Given the description of an element on the screen output the (x, y) to click on. 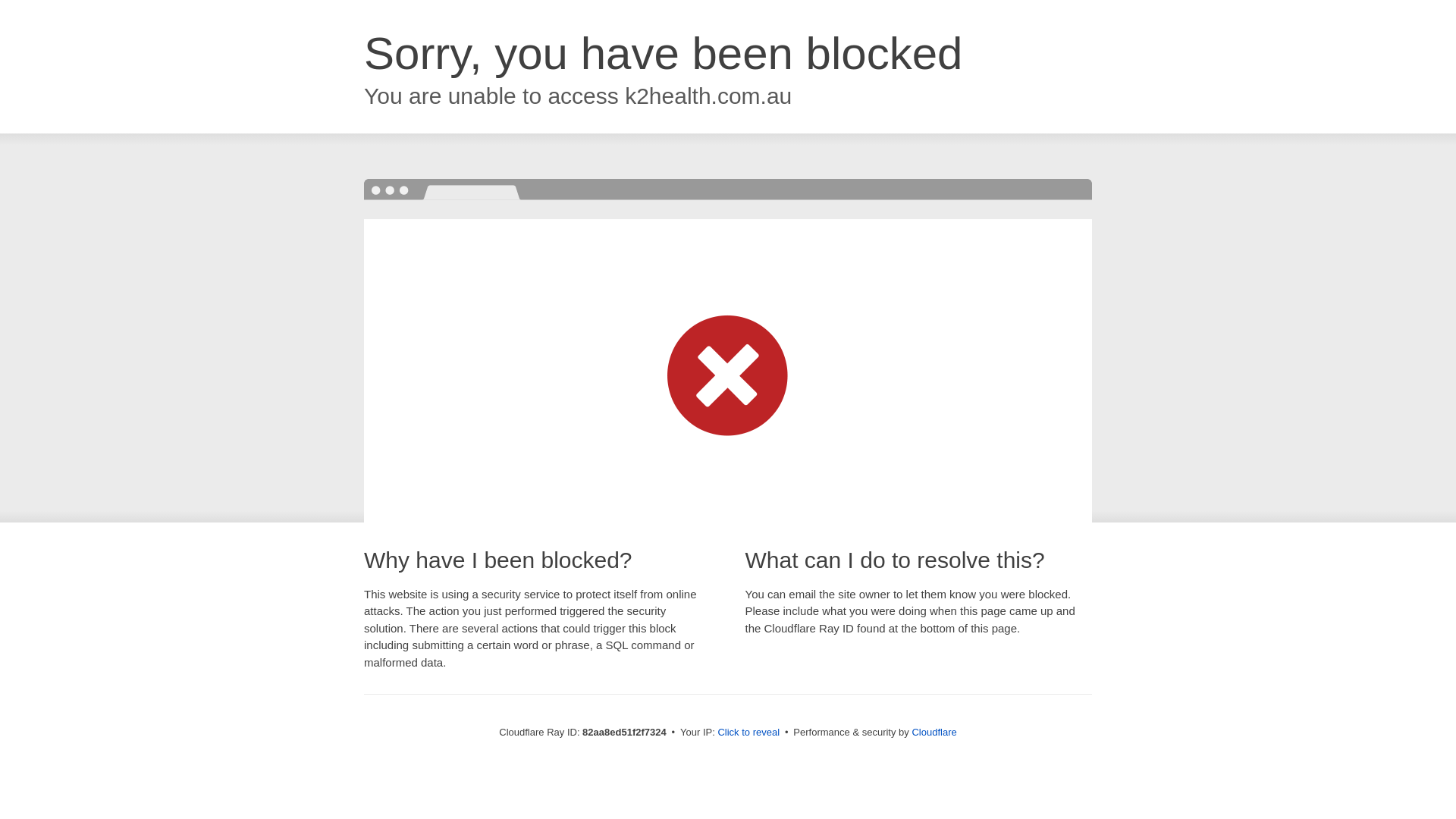
Click to reveal Element type: text (748, 732)
Cloudflare Element type: text (933, 731)
